Given the description of an element on the screen output the (x, y) to click on. 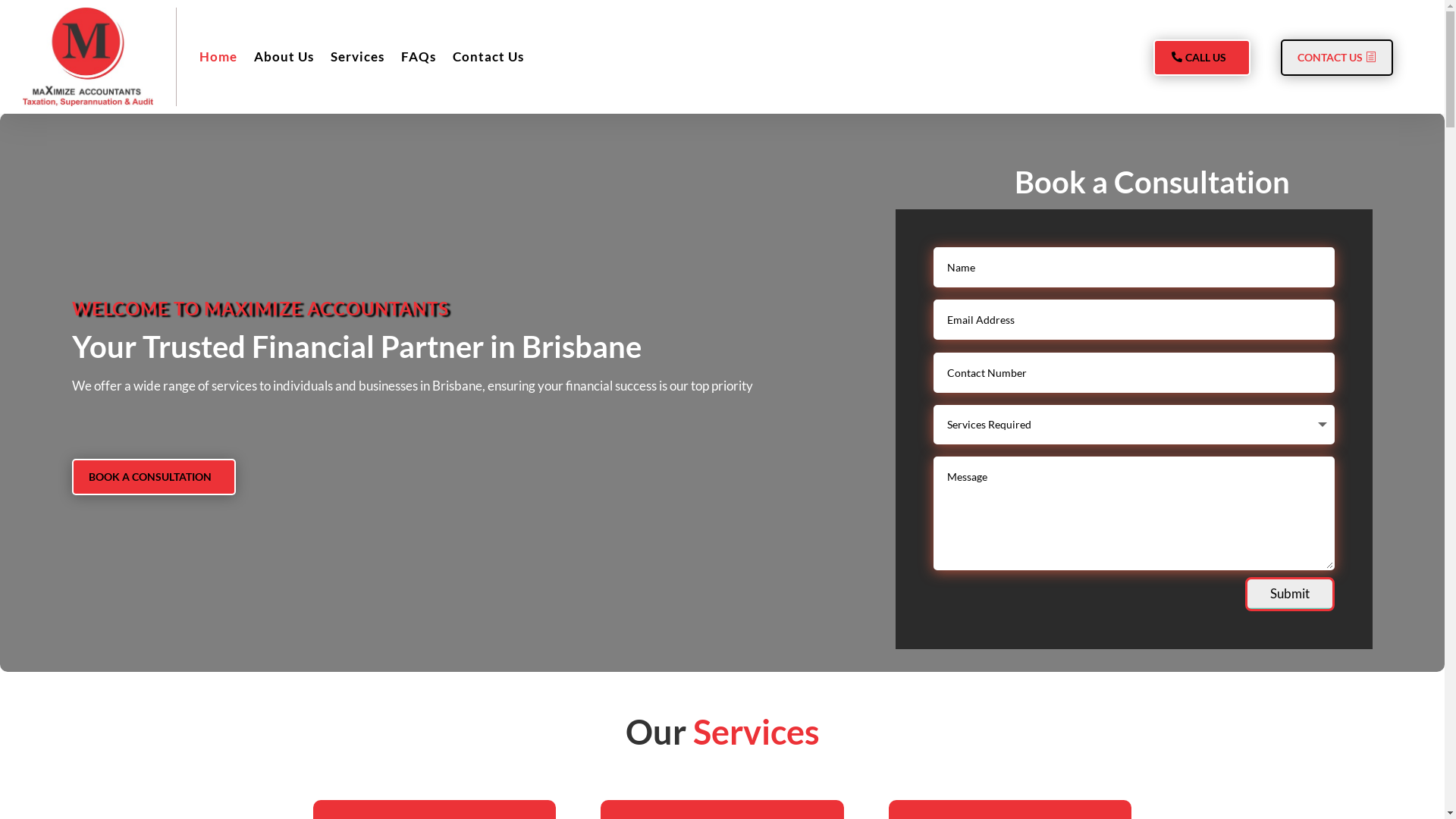
About Us Element type: text (283, 56)
CONTACT US Element type: text (1336, 57)
Services Element type: text (357, 56)
Contact Us Element type: text (488, 56)
Home Element type: text (218, 56)
Submit Element type: text (1289, 594)
FAQs Element type: text (418, 56)
CALL US Element type: text (1201, 57)
BOOK A CONSULTATION Element type: text (153, 476)
